Given the description of an element on the screen output the (x, y) to click on. 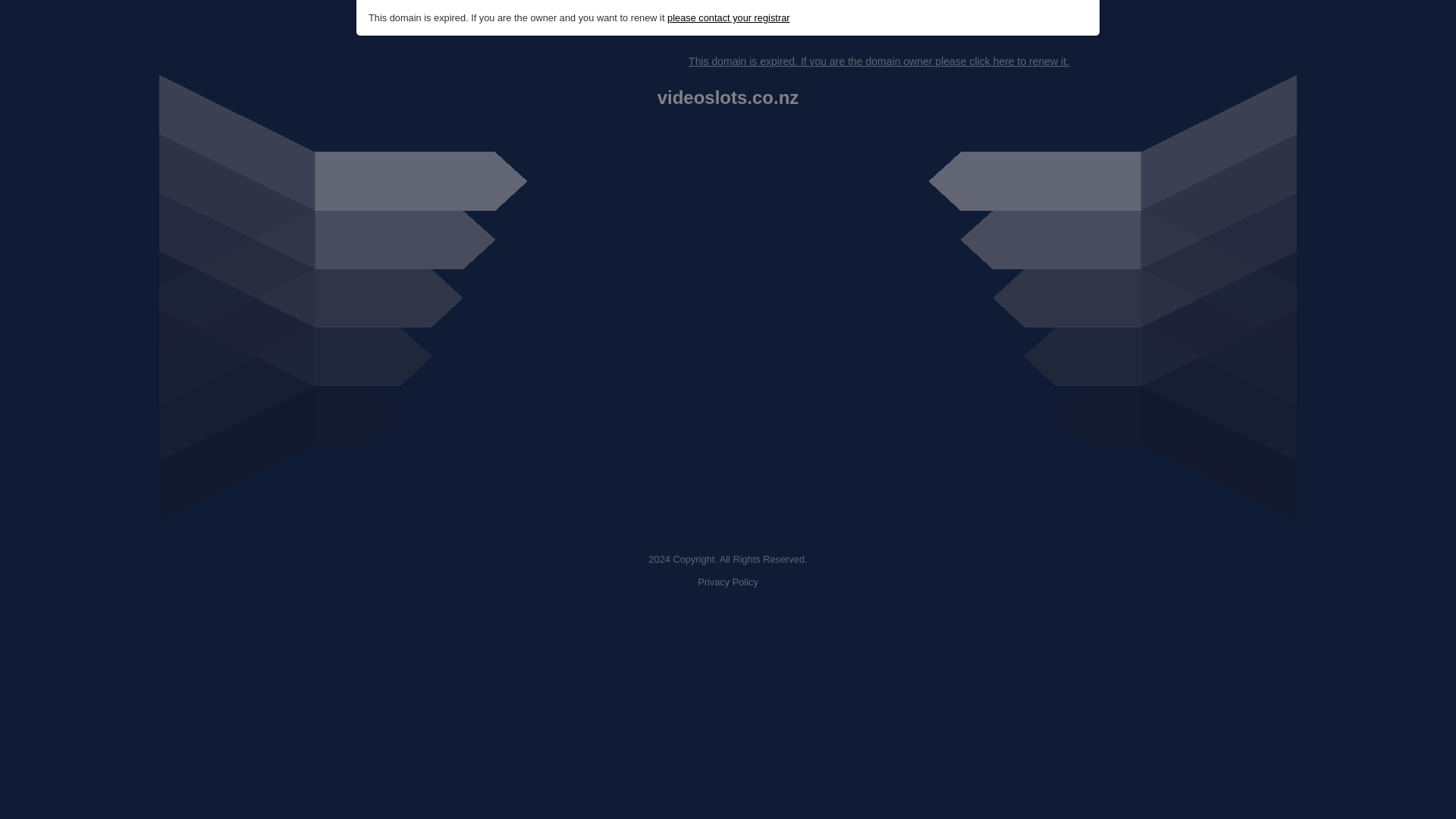
Privacy Policy (727, 582)
please contact your registrar (727, 17)
